Given the description of an element on the screen output the (x, y) to click on. 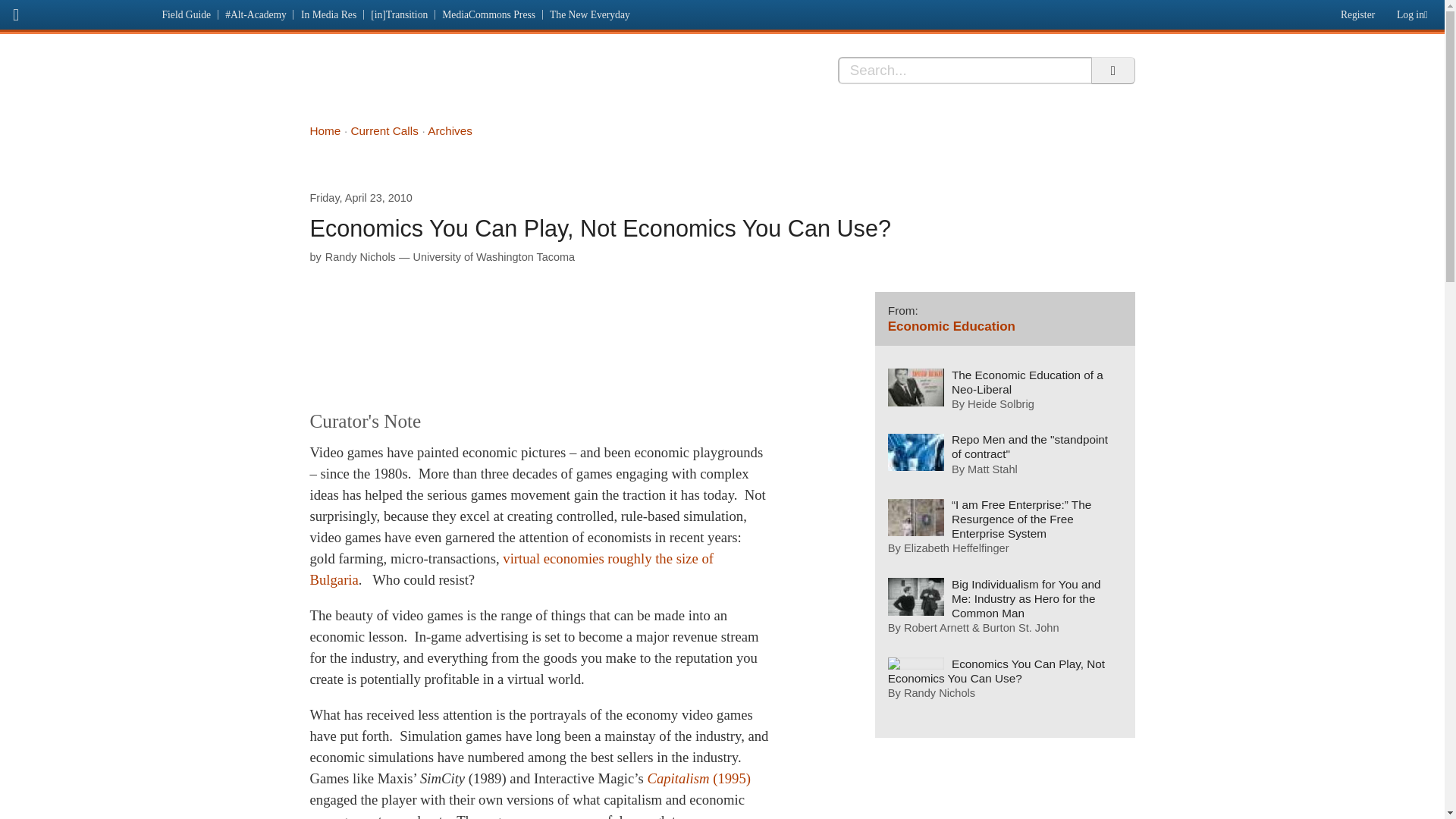
virtual economies roughly the size of Bulgaria (510, 569)
In Media Res (424, 79)
Front page (77, 11)
Field Guide (186, 14)
Archives (449, 130)
MediaCommons Press (489, 14)
Current Calls (384, 130)
Home (324, 130)
Randy Nichols (360, 256)
Register (1355, 11)
